Given the description of an element on the screen output the (x, y) to click on. 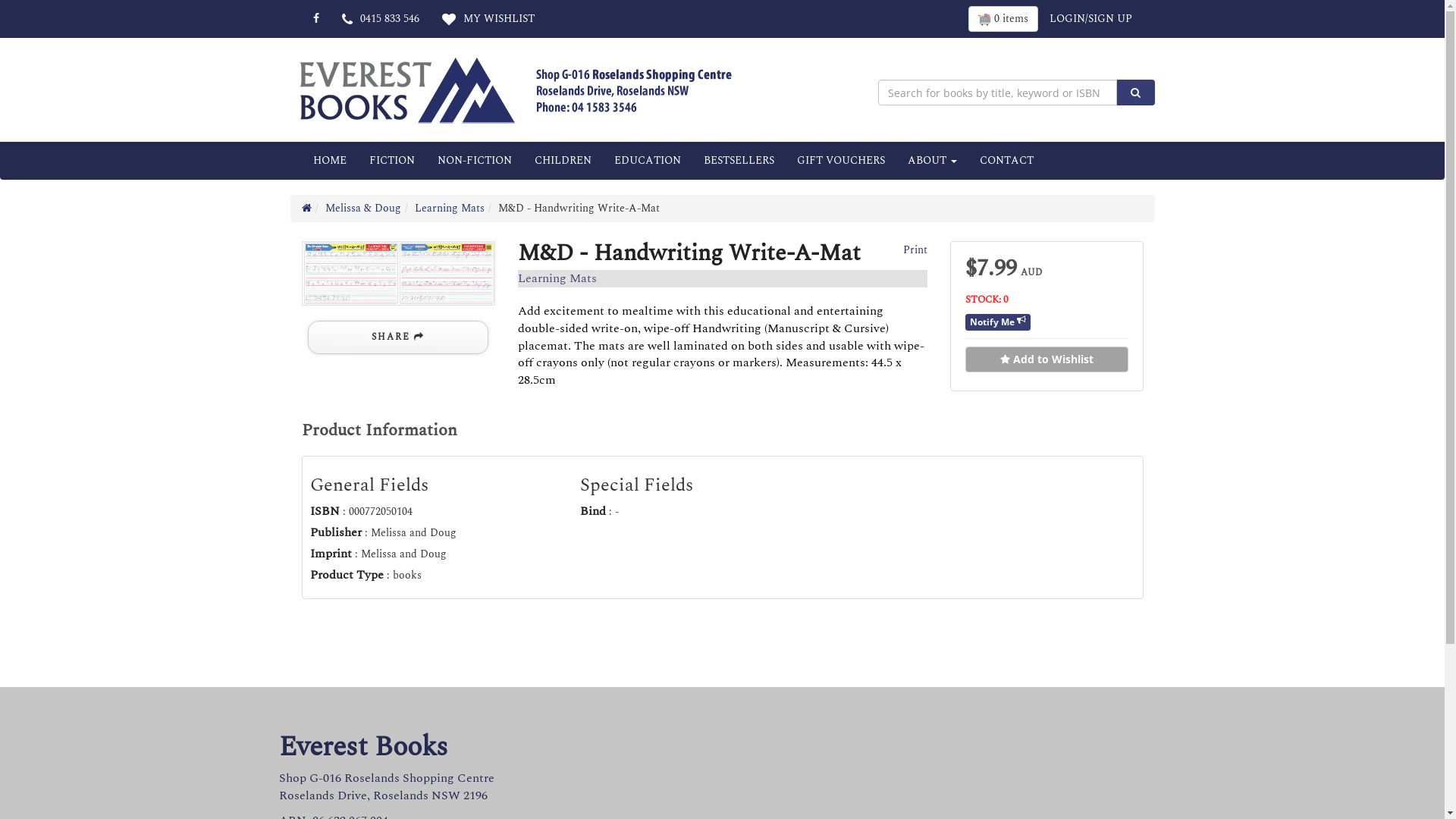
FICTION Element type: text (391, 160)
SHARE Element type: text (397, 336)
HOME Element type: text (329, 160)
NON-FICTION Element type: text (474, 160)
MY WISHLIST Element type: text (488, 18)
Learning Mats Element type: text (448, 208)
Learning Mats Element type: text (556, 278)
LOGIN/SIGN UP Element type: text (1089, 18)
M&D - Handwriting Write-A-Mat Element type: hover (398, 273)
0 items Element type: text (1002, 18)
EDUCATION Element type: text (646, 160)
0415 833 546 Element type: text (380, 18)
Notify Me Element type: text (997, 321)
0 items Element type: text (1002, 18)
BESTSELLERS Element type: text (737, 160)
GIFT VOUCHERS Element type: text (840, 160)
CONTACT Element type: text (1005, 160)
Melissa & Doug Element type: text (362, 208)
CHILDREN Element type: text (562, 160)
ABOUT  Element type: text (932, 160)
Add to Wishlist Element type: text (1045, 359)
 Print Element type: text (912, 249)
